Given the description of an element on the screen output the (x, y) to click on. 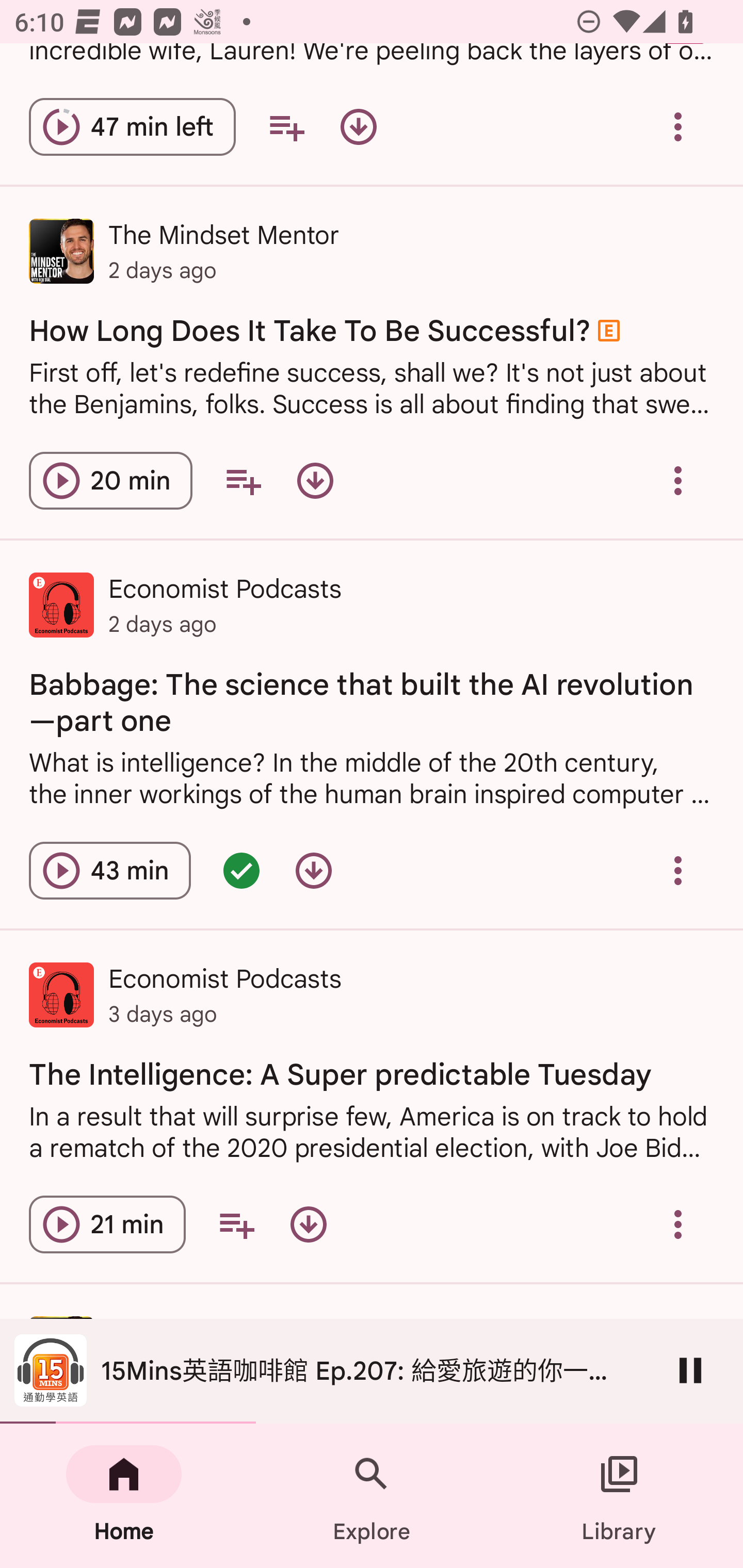
Play episode Meet My Wife 47 min left (131, 126)
Add to your queue (286, 126)
Download episode (358, 126)
Overflow menu (677, 126)
Add to your queue (242, 480)
Download episode (315, 480)
Overflow menu (677, 480)
Episode queued - double tap for options (241, 870)
Download episode (313, 870)
Overflow menu (677, 870)
Add to your queue (235, 1224)
Download episode (308, 1224)
Overflow menu (677, 1224)
Pause (690, 1370)
Explore (371, 1495)
Library (619, 1495)
